Given the description of an element on the screen output the (x, y) to click on. 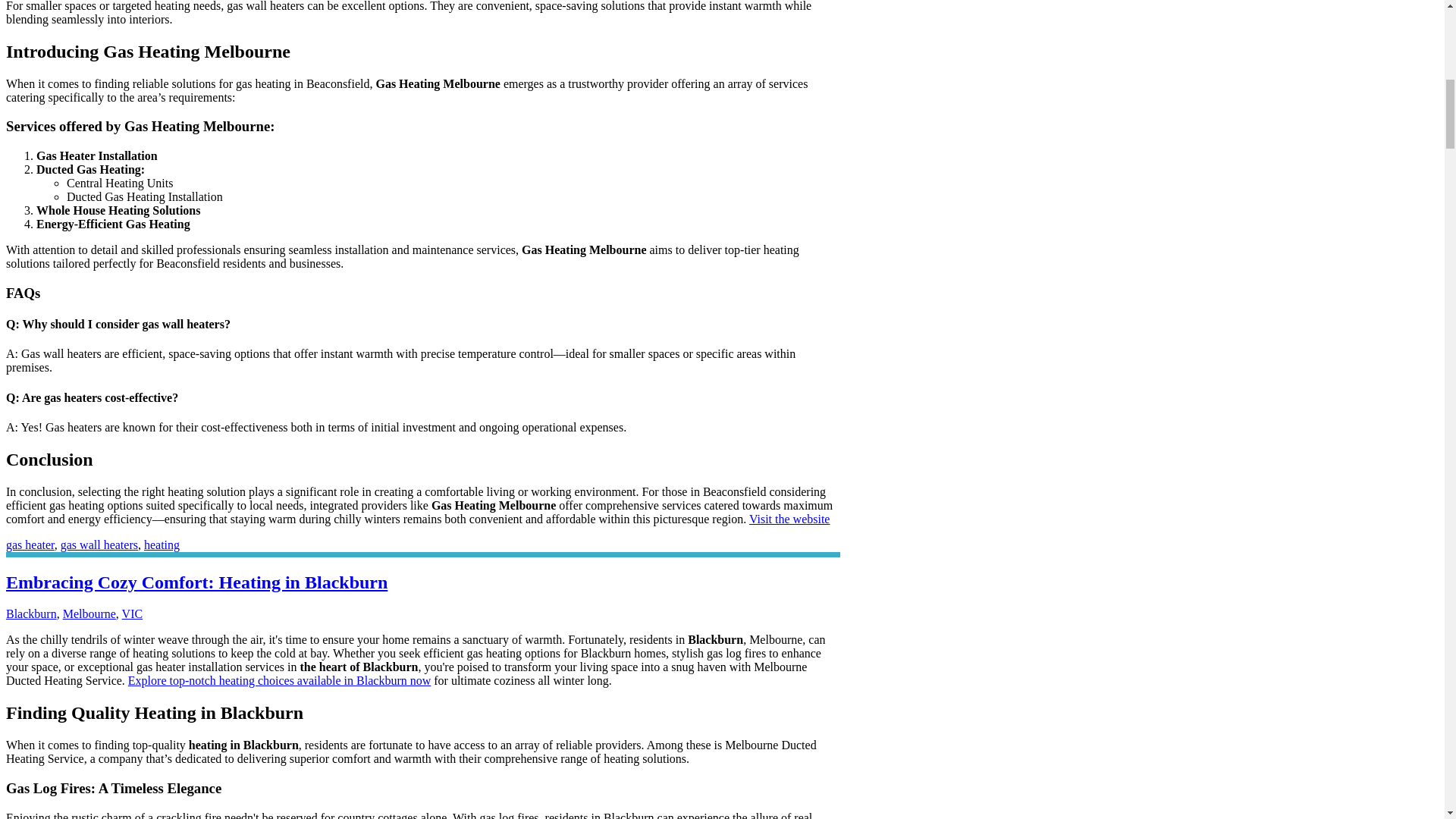
Blackburn (30, 613)
Embracing Cozy Comfort: Heating in Blackburn (196, 582)
gas wall heaters (99, 544)
Explore top-notch heating choices available in Blackburn now (279, 680)
Melbourne (89, 613)
Visit the website (789, 518)
heating (161, 544)
gas heater (30, 544)
VIC (132, 613)
